Given the description of an element on the screen output the (x, y) to click on. 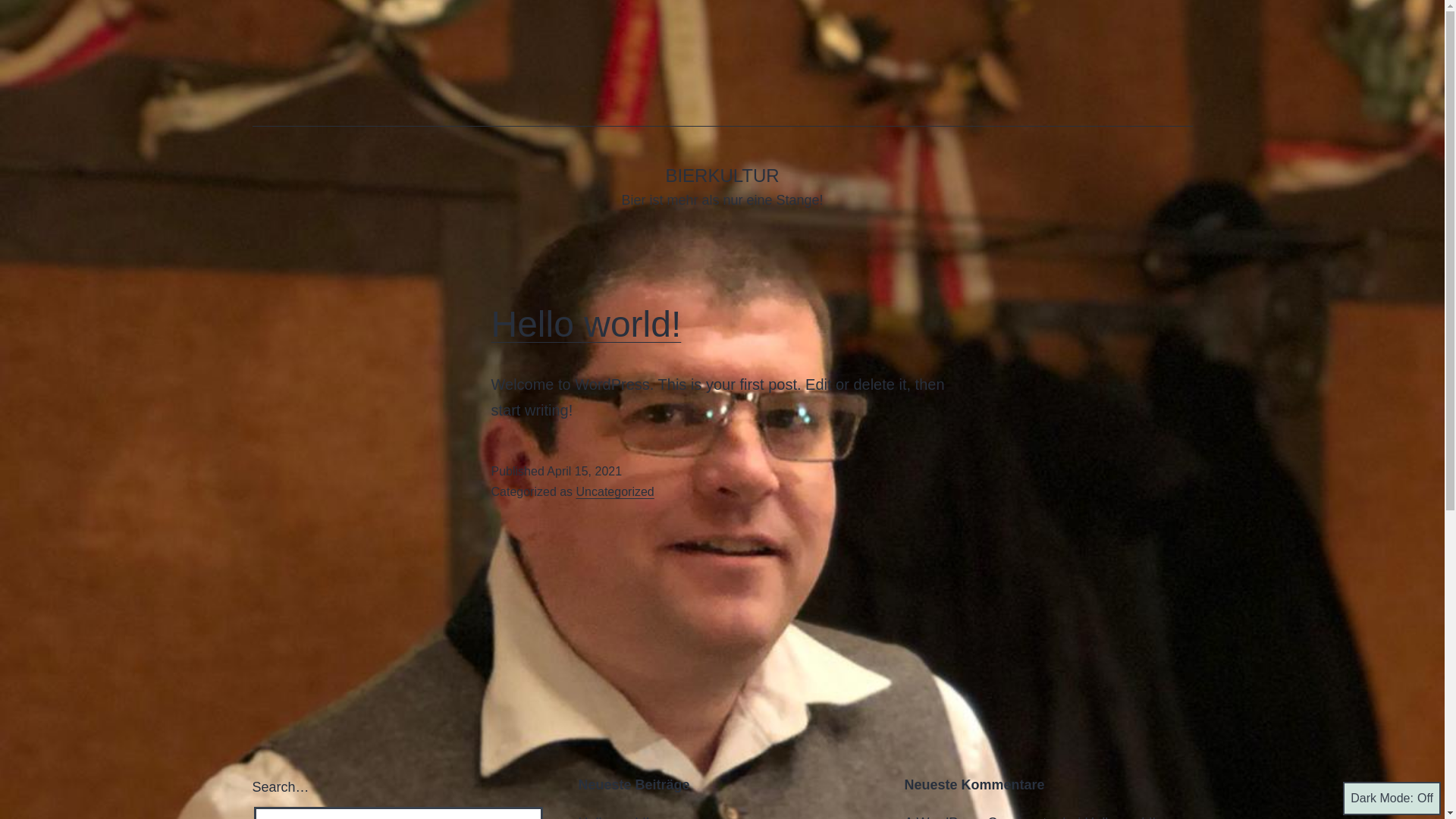
Dark Mode: Element type: text (1391, 798)
Hello world! Element type: text (586, 324)
Uncategorized Element type: text (615, 491)
